Given the description of an element on the screen output the (x, y) to click on. 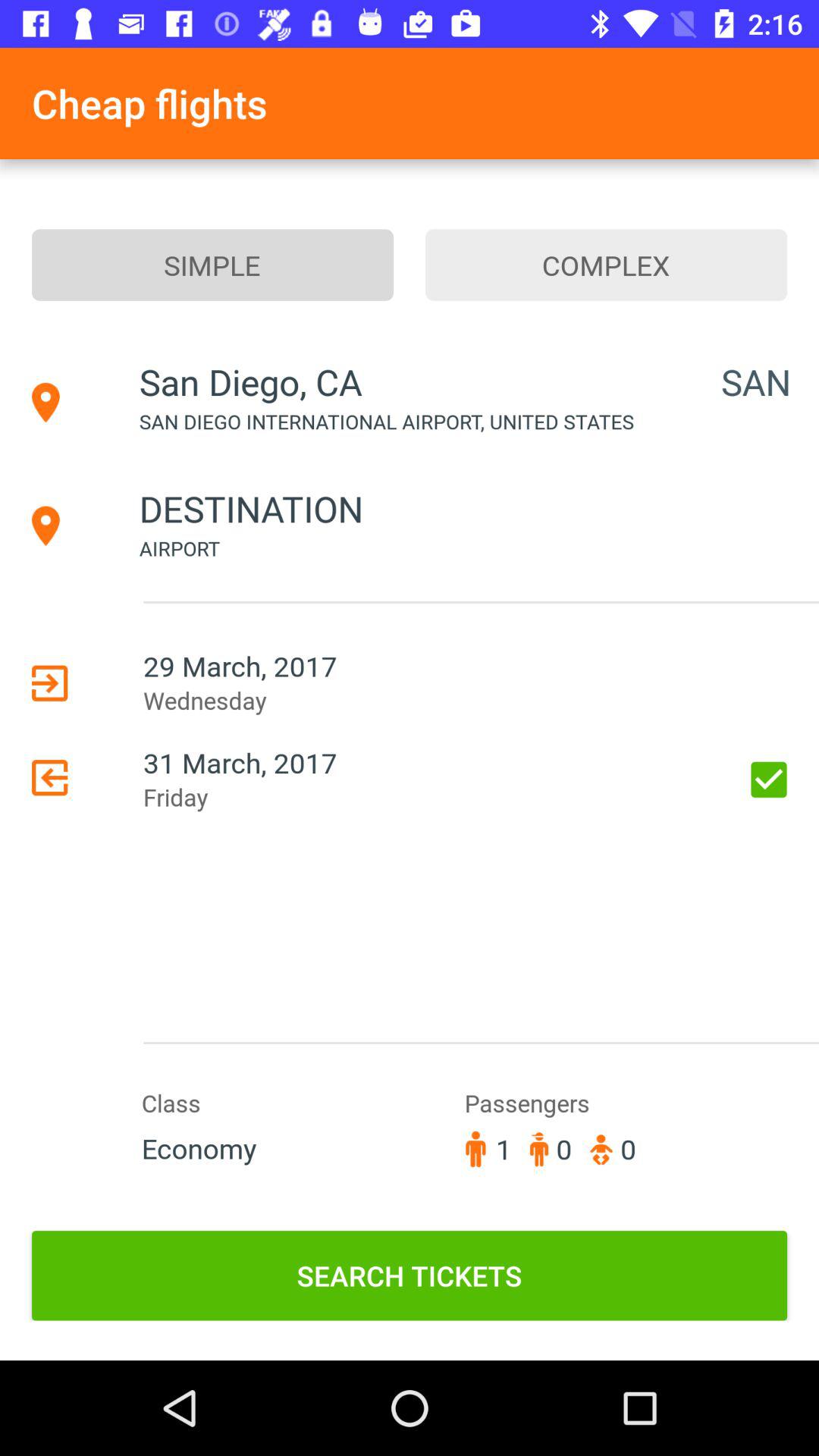
press icon below 1 item (409, 1275)
